Given the description of an element on the screen output the (x, y) to click on. 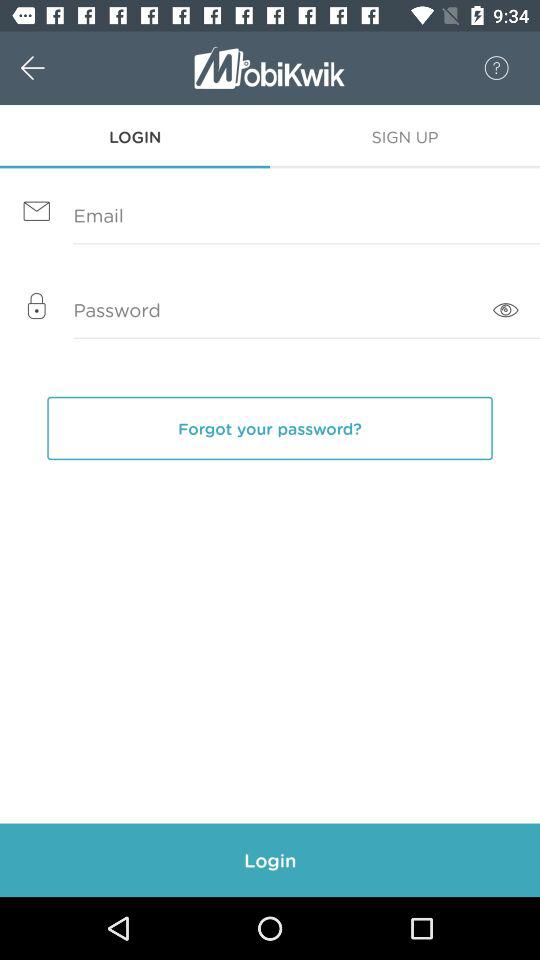
enter your email address (270, 216)
